Given the description of an element on the screen output the (x, y) to click on. 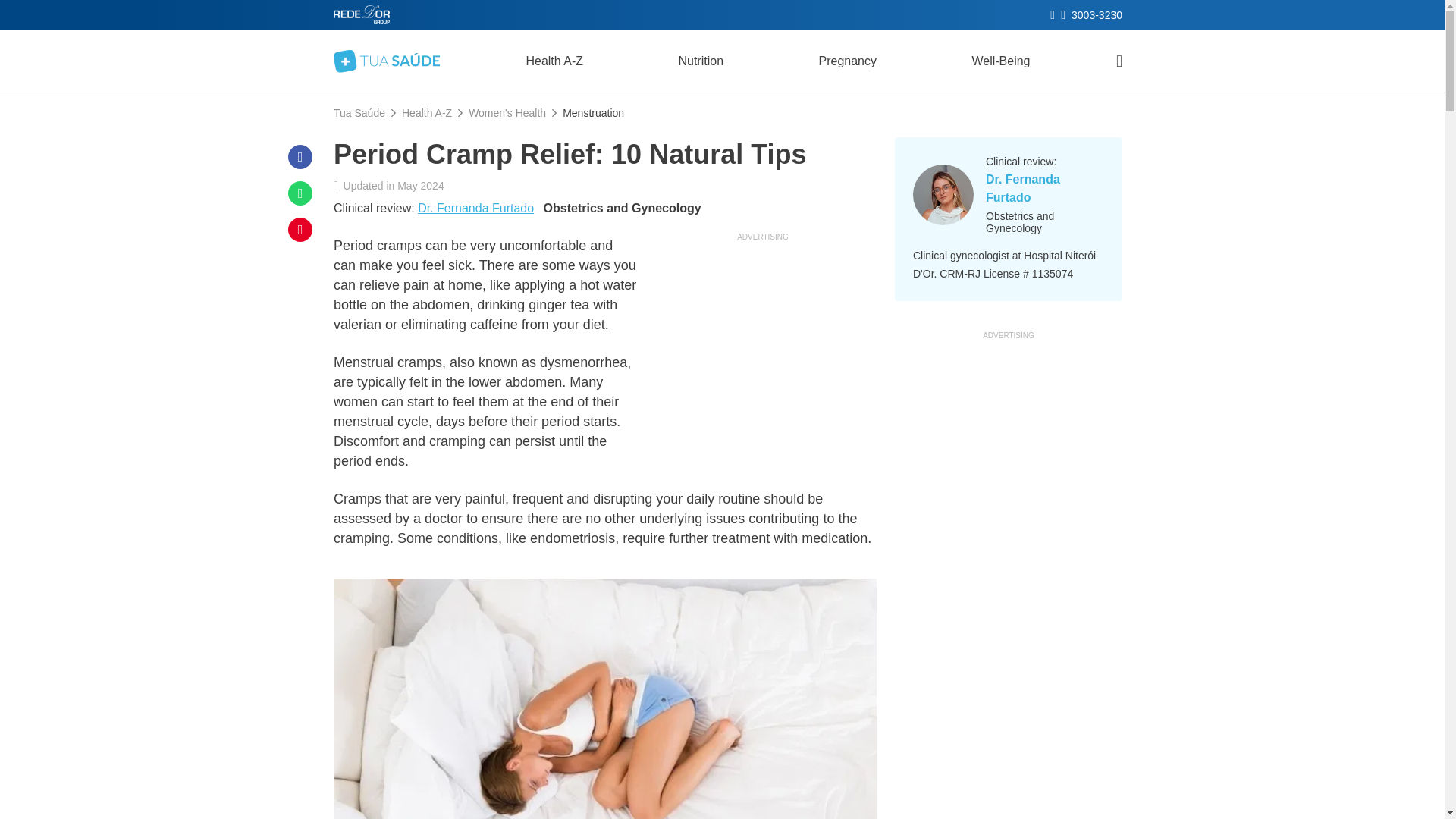
Health A-Z (426, 112)
Women's Health (507, 112)
Dr. Fernanda Furtado (475, 208)
Health A-Z (554, 61)
Nutrition (700, 61)
Menstruation (593, 112)
Well-Being (1000, 61)
Pregnancy (847, 61)
